Given the description of an element on the screen output the (x, y) to click on. 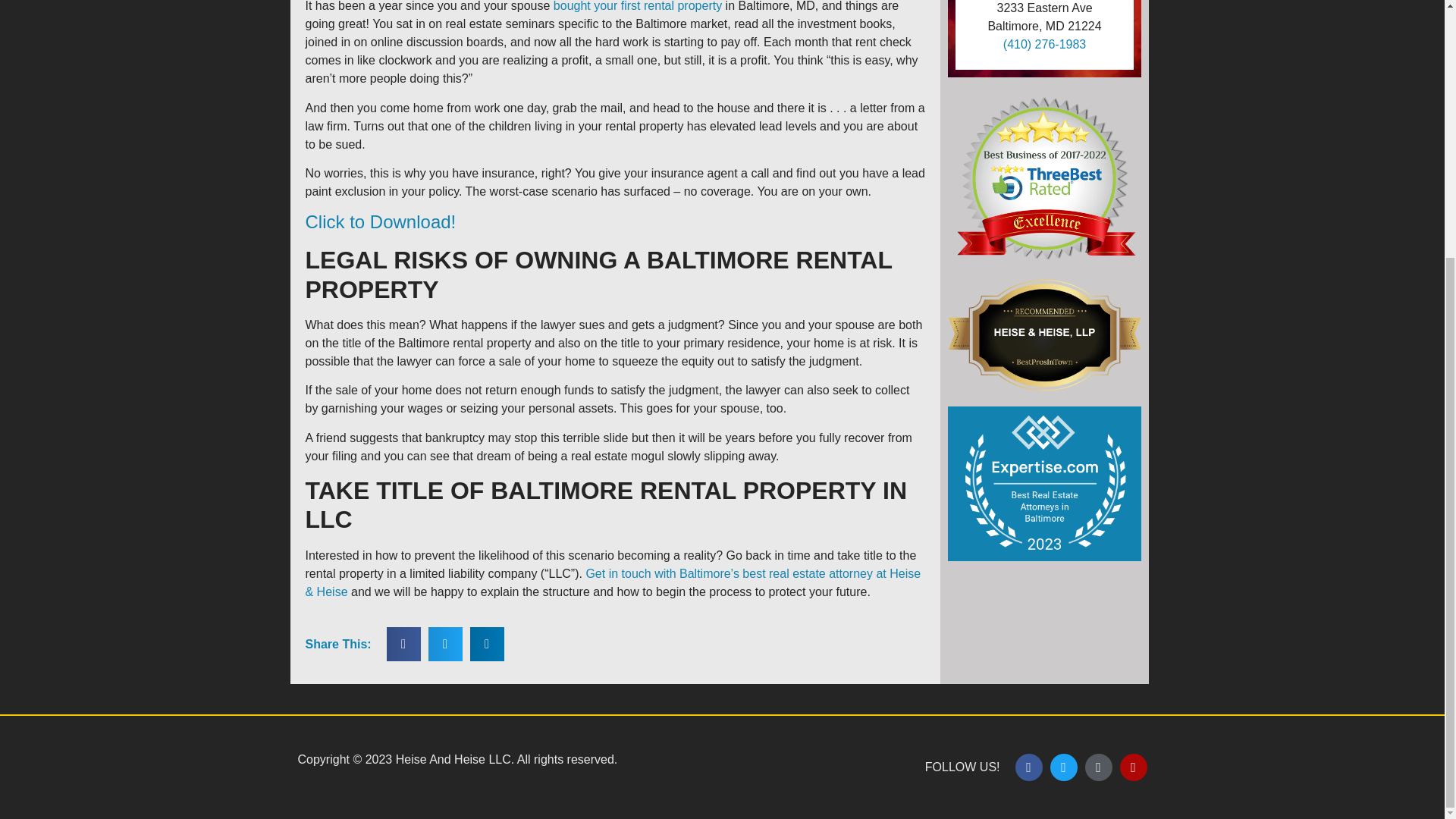
bought your first rental property (637, 6)
Click to Download! (379, 221)
